Given the description of an element on the screen output the (x, y) to click on. 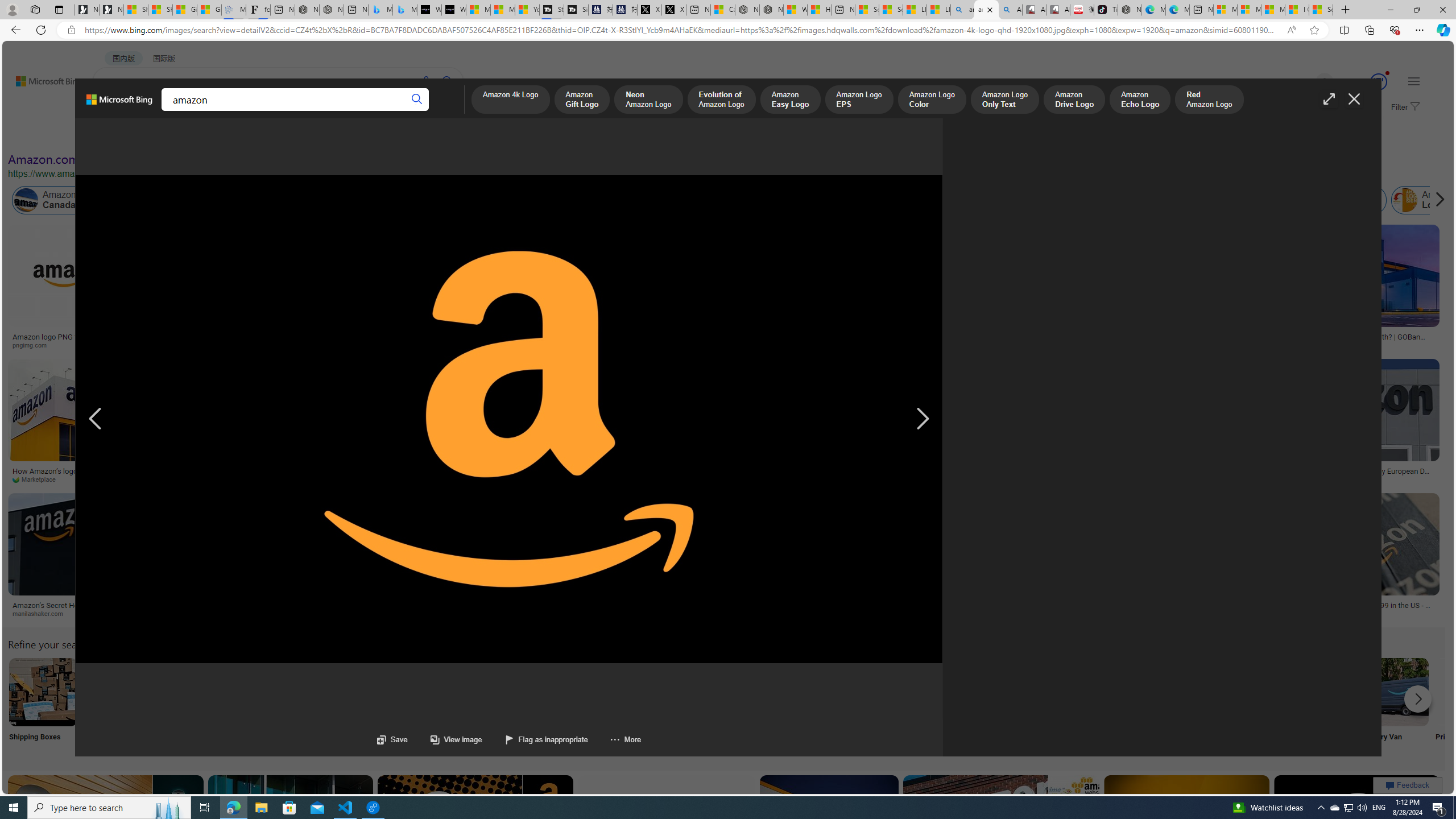
VIDEOS (260, 111)
Amazon Logo (PNG e SVG) Download Vetorial Transparente (719, 340)
Two Reasons Why Retailers Need to Leverage Amazon (208, 340)
Layout (253, 135)
Search button (417, 99)
Amazon Online Shopping Search Online Shopping Search (118, 706)
Amazon Echo Dot 4th Gen (617, 264)
theverge.com (1294, 612)
Amazon Prime Shopping Online (944, 691)
Amazon Cloud (320, 200)
Amazon Sale Items (1169, 691)
